Given the description of an element on the screen output the (x, y) to click on. 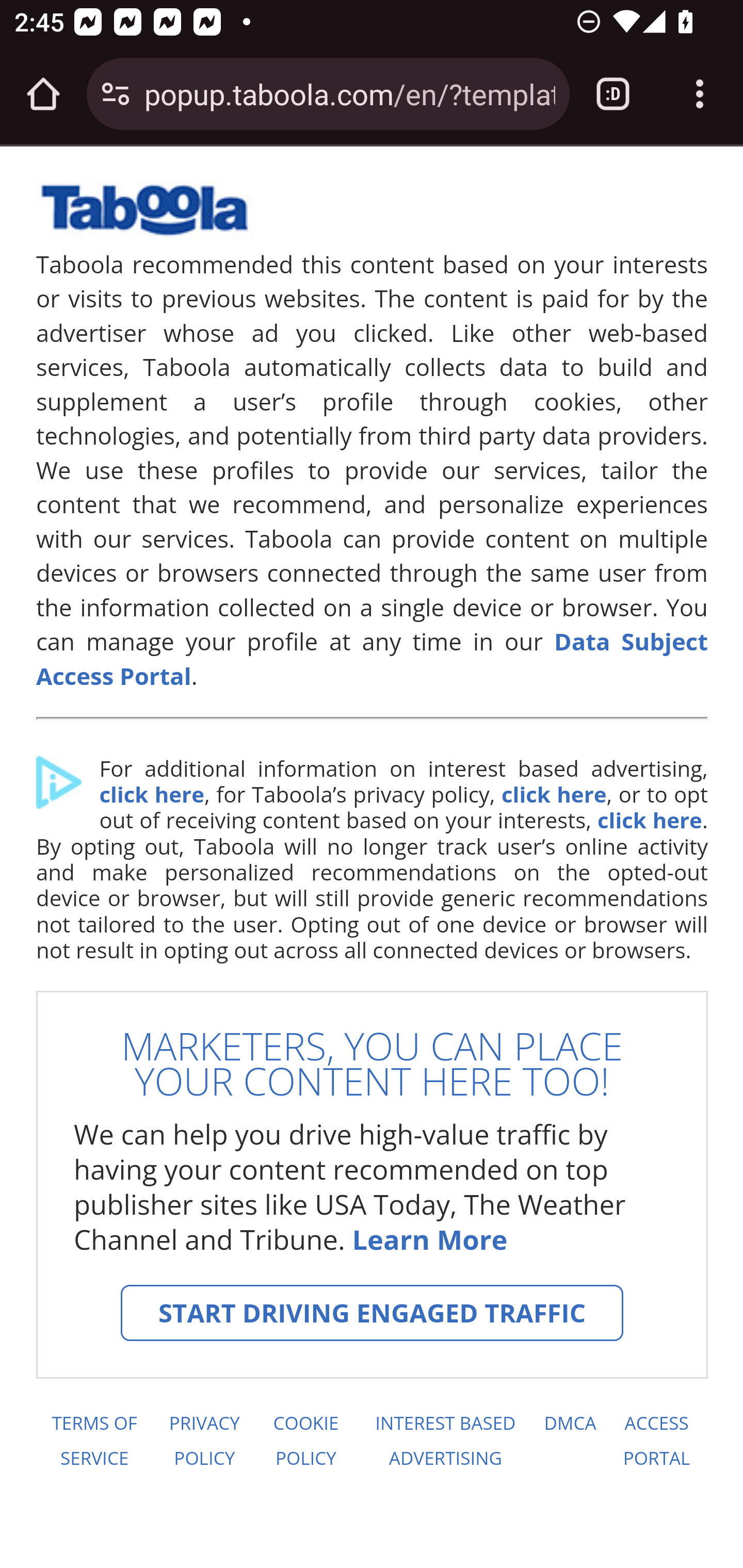
Open the home page (43, 93)
Connection is secure (115, 93)
Switch or close tabs (612, 93)
Customize and control Google Chrome (699, 93)
Taboola (144, 217)
Data Subject Access Portal (372, 658)
click here (151, 793)
click here (553, 793)
click here (648, 819)
Learn More (429, 1239)
START DRIVING ENGAGED TRAFFIC (371, 1312)
TERMS OF SERVICE (93, 1441)
PRIVACY POLICY (203, 1441)
COOKIE POLICY (305, 1441)
INTEREST BASED ADVERTISING (445, 1441)
DMCA (570, 1441)
ACCESS PORTAL (656, 1441)
